Given the description of an element on the screen output the (x, y) to click on. 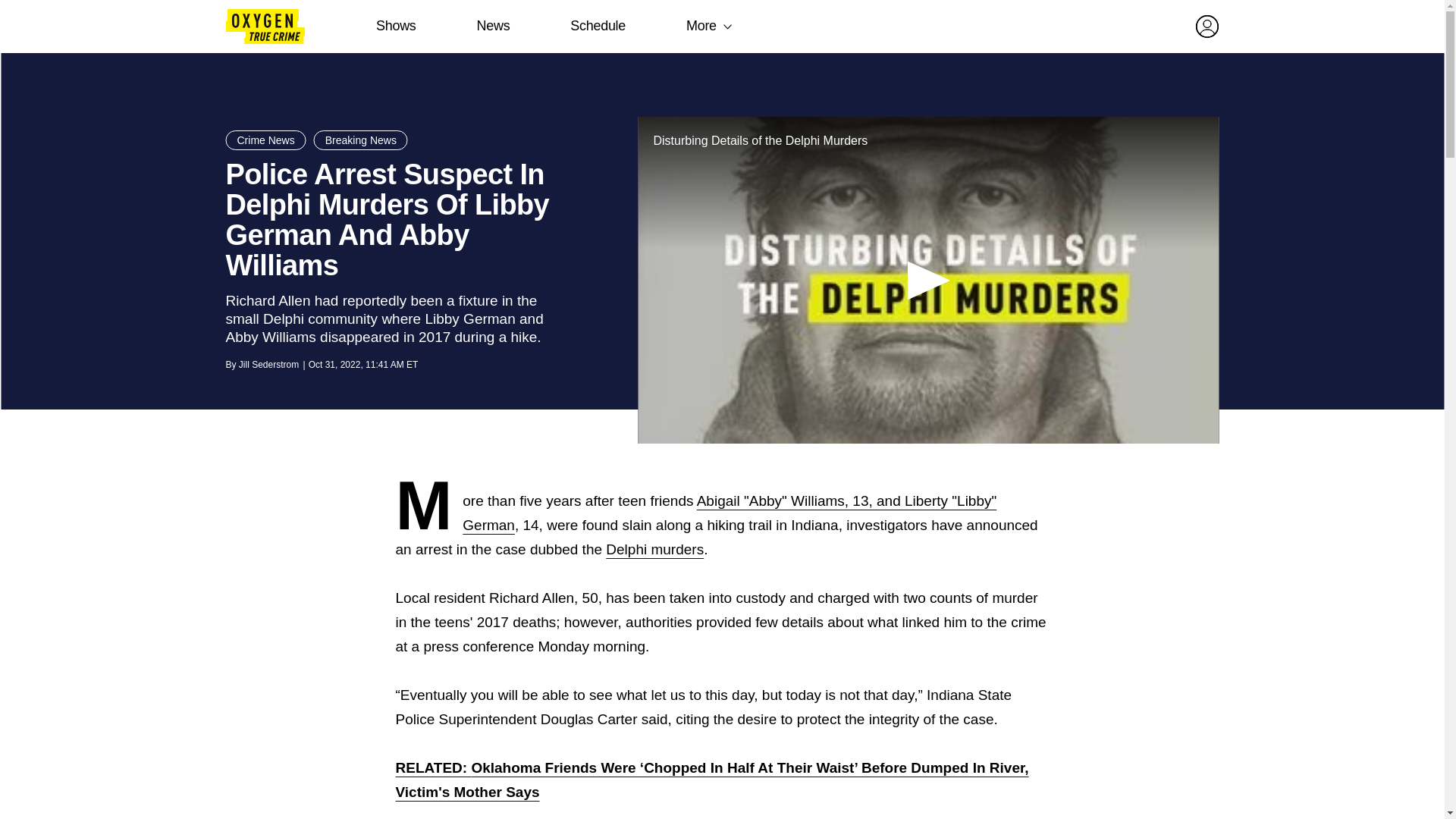
Jill Sederstrom (268, 364)
Delphi murders (654, 549)
Crime News (265, 139)
Abigail "Abby" Williams, 13, and Liberty "Libby" German (729, 513)
Breaking News (360, 139)
Schedule (598, 26)
News (492, 26)
More (700, 26)
Shows (395, 26)
